Given the description of an element on the screen output the (x, y) to click on. 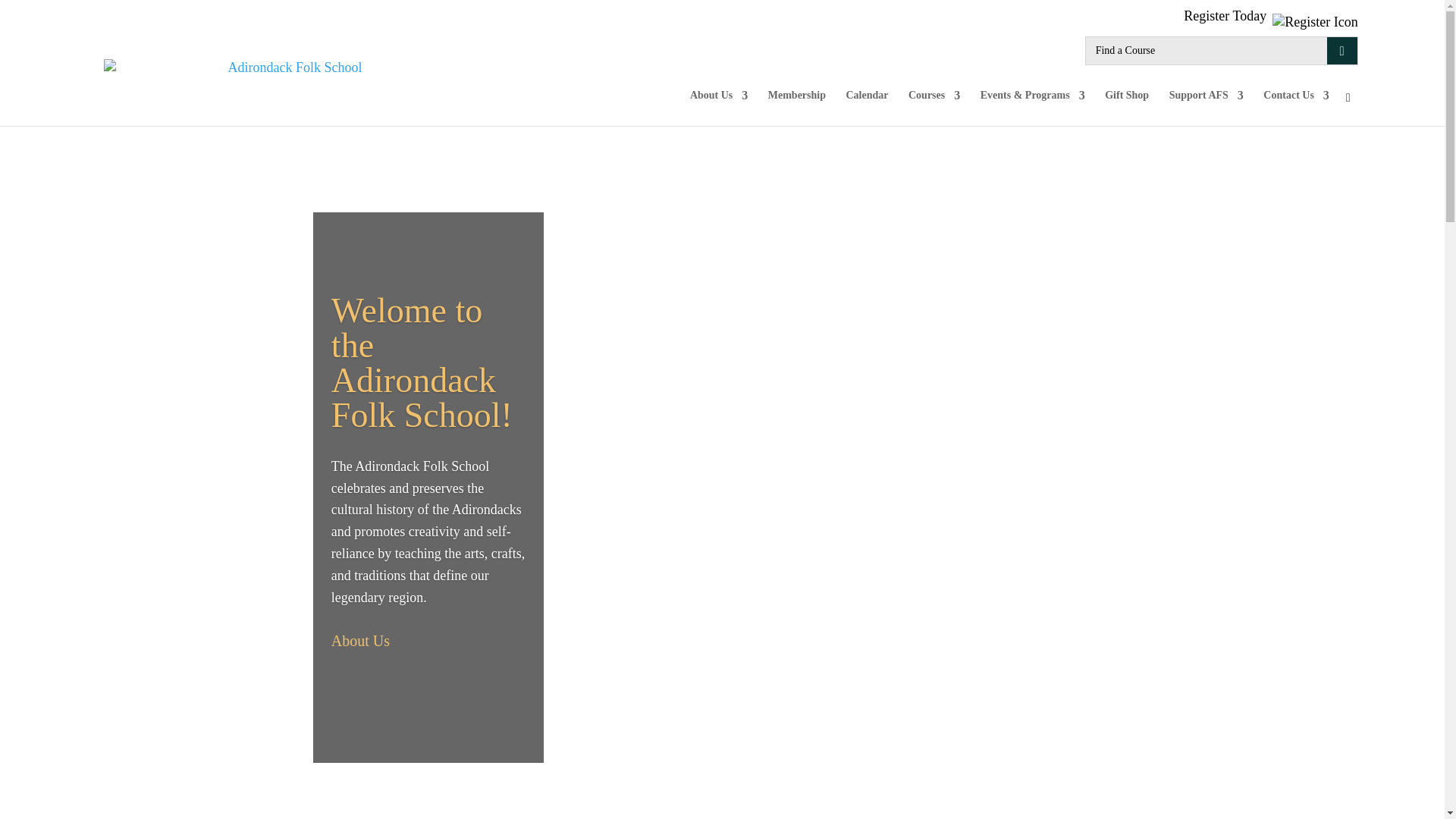
About Us (719, 108)
Register Today (1269, 15)
Calendar (866, 108)
Membership (796, 108)
Courses (933, 108)
